Given the description of an element on the screen output the (x, y) to click on. 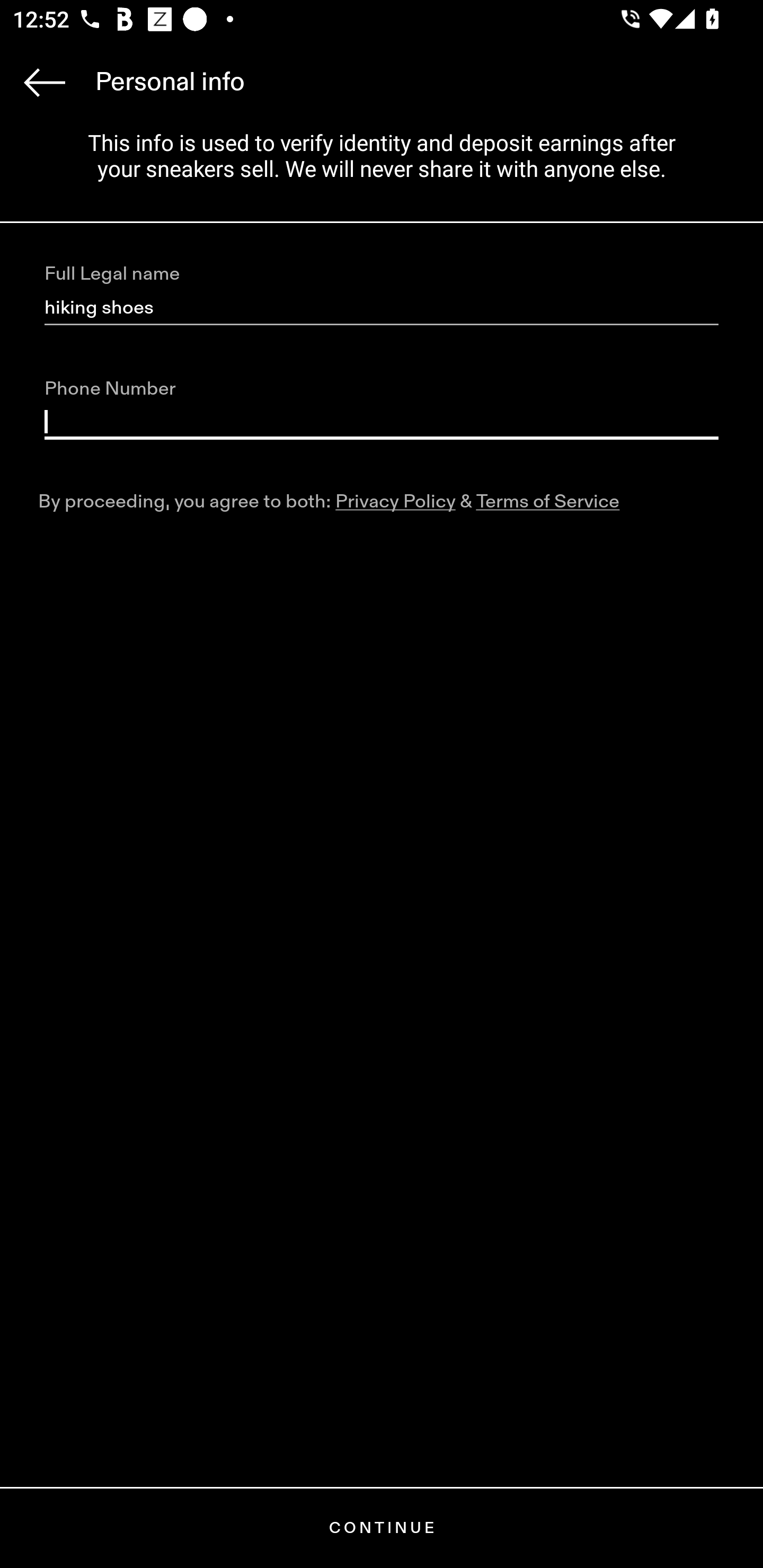
Navigate up (44, 82)
hiking shoes (381, 308)
Phone Number (381, 422)
CONTINUE (381, 1528)
